Given the description of an element on the screen output the (x, y) to click on. 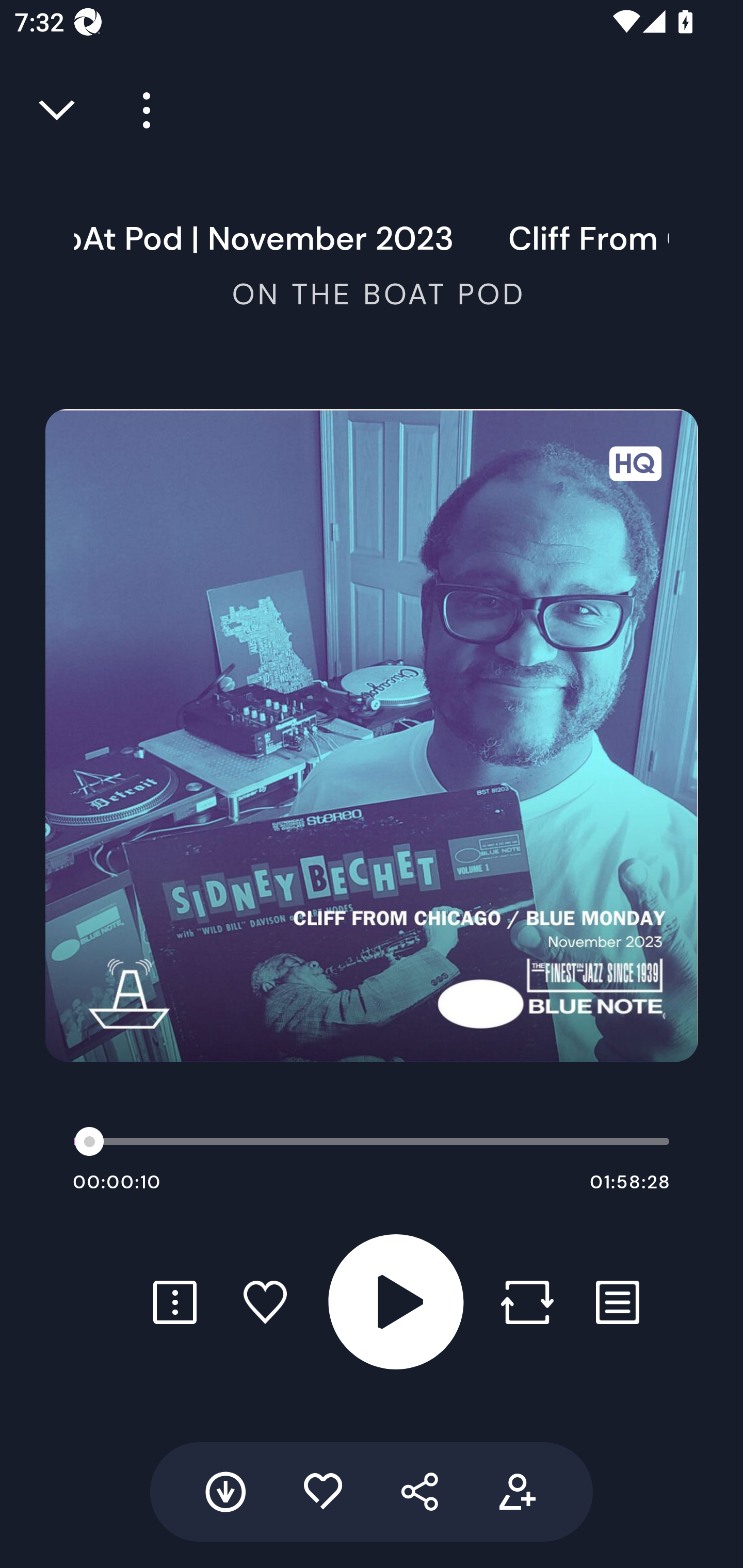
Close full player (58, 110)
Player more options button (139, 110)
Repost button (527, 1301)
